Given the description of an element on the screen output the (x, y) to click on. 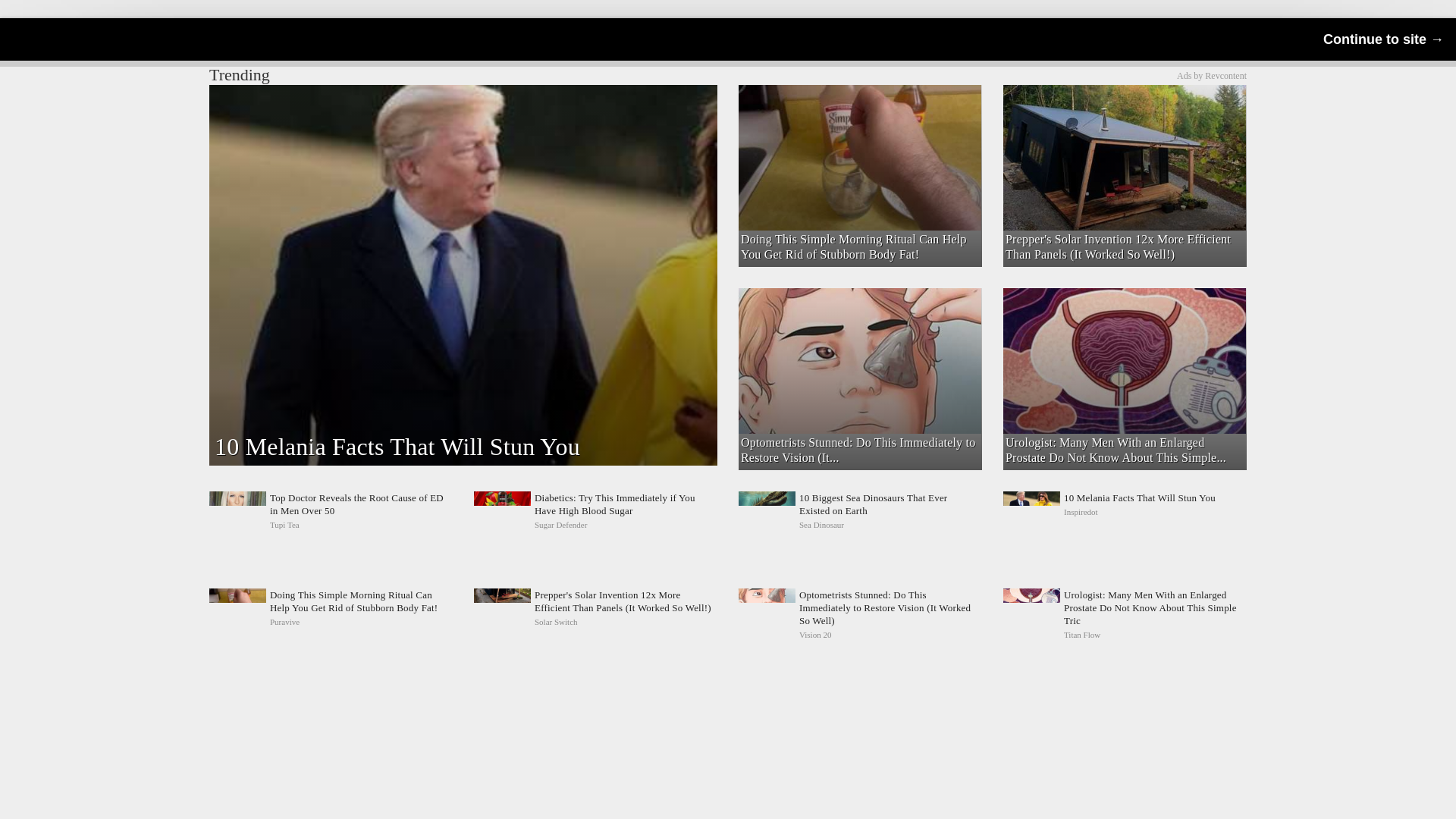
Top Doctor Reveals the Root Cause of ED in Men Over 50 (330, 510)
Ads by Revcontent (1211, 75)
BIDEN FACEPLANTS (859, 111)
10 Melania Facts That Will Stun You (1124, 510)
10 Biggest Sea Dinosaurs That Ever Existed on Earth (859, 510)
